Given the description of an element on the screen output the (x, y) to click on. 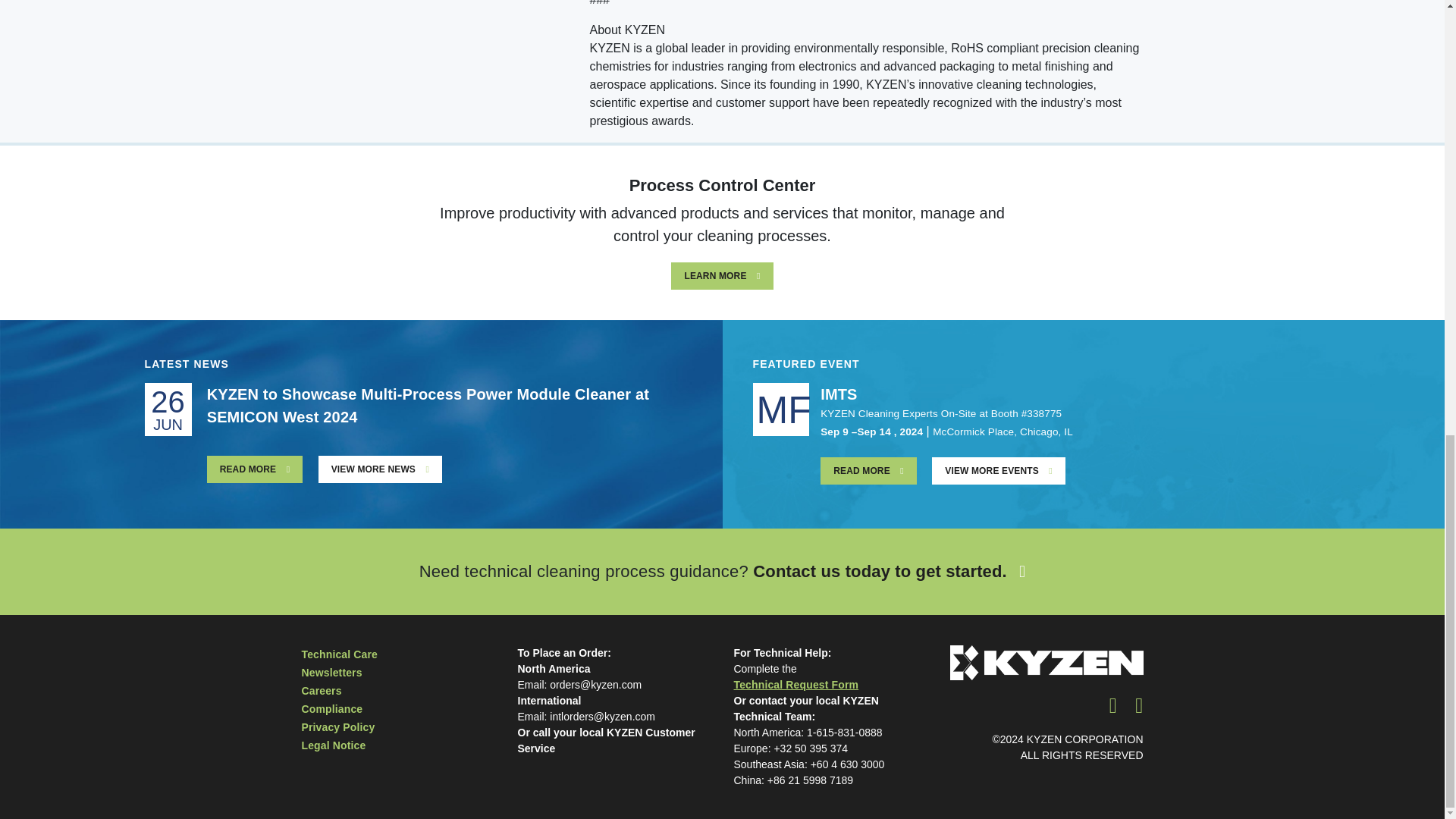
LEARN MORE (722, 275)
Contact us today to get started. (888, 570)
IMTS (839, 393)
READ MORE (254, 469)
READ MORE (869, 470)
VIEW MORE EVENTS (998, 470)
VIEW MORE NEWS (380, 469)
